Given the description of an element on the screen output the (x, y) to click on. 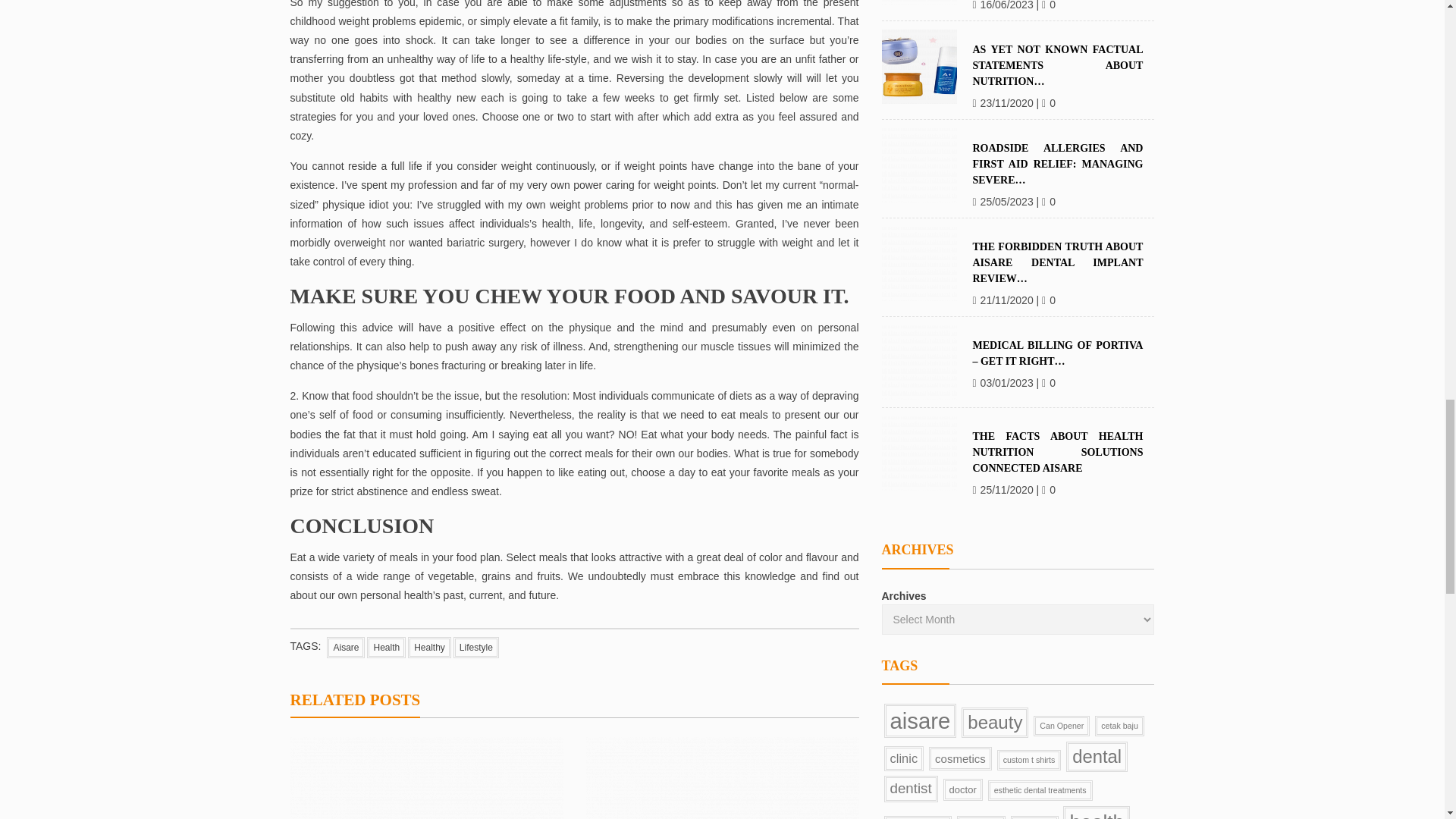
Aisare (345, 647)
Lifestyle (475, 647)
Fueling Fitness: A Guide to Finding Workout Gear Deals (425, 778)
Health (386, 647)
Healthy (429, 647)
WINDSETLERS: A BREATH OF RELIEF FOR UNCOMFORTABLE SYMPTOMS (722, 778)
